Given the description of an element on the screen output the (x, y) to click on. 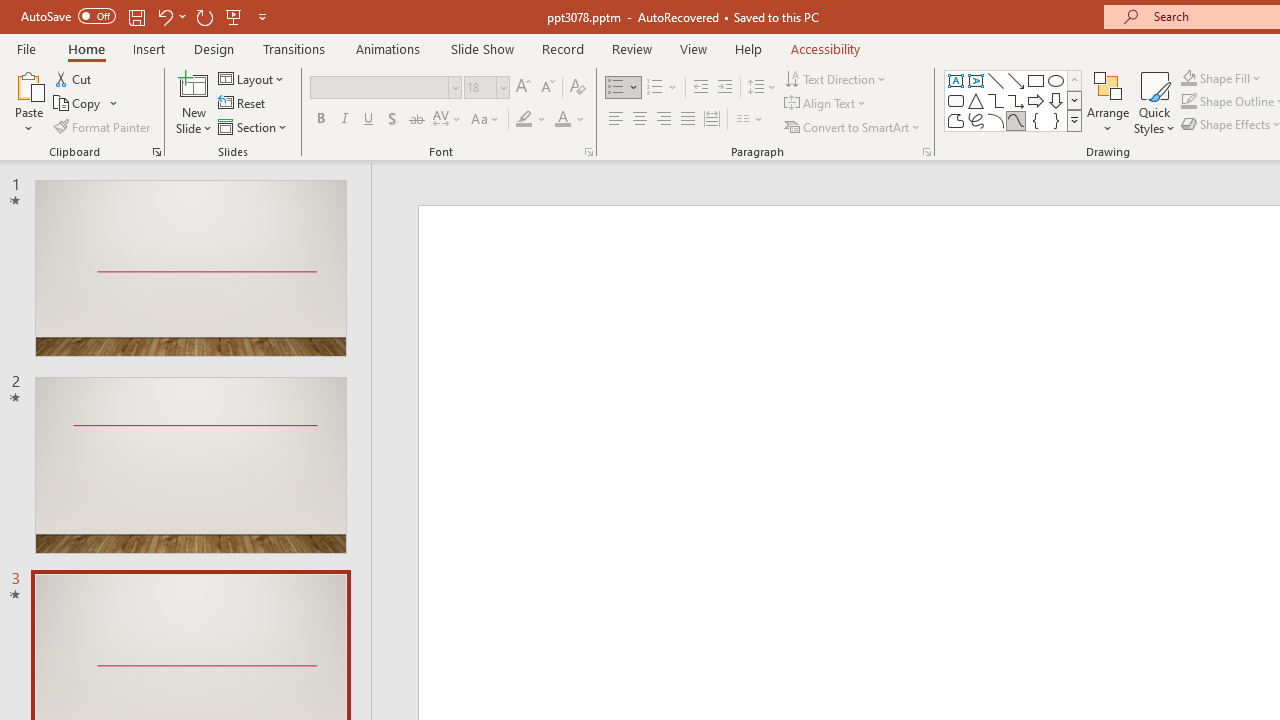
Shape Outline Green, Accent 1 (1188, 101)
